Given the description of an element on the screen output the (x, y) to click on. 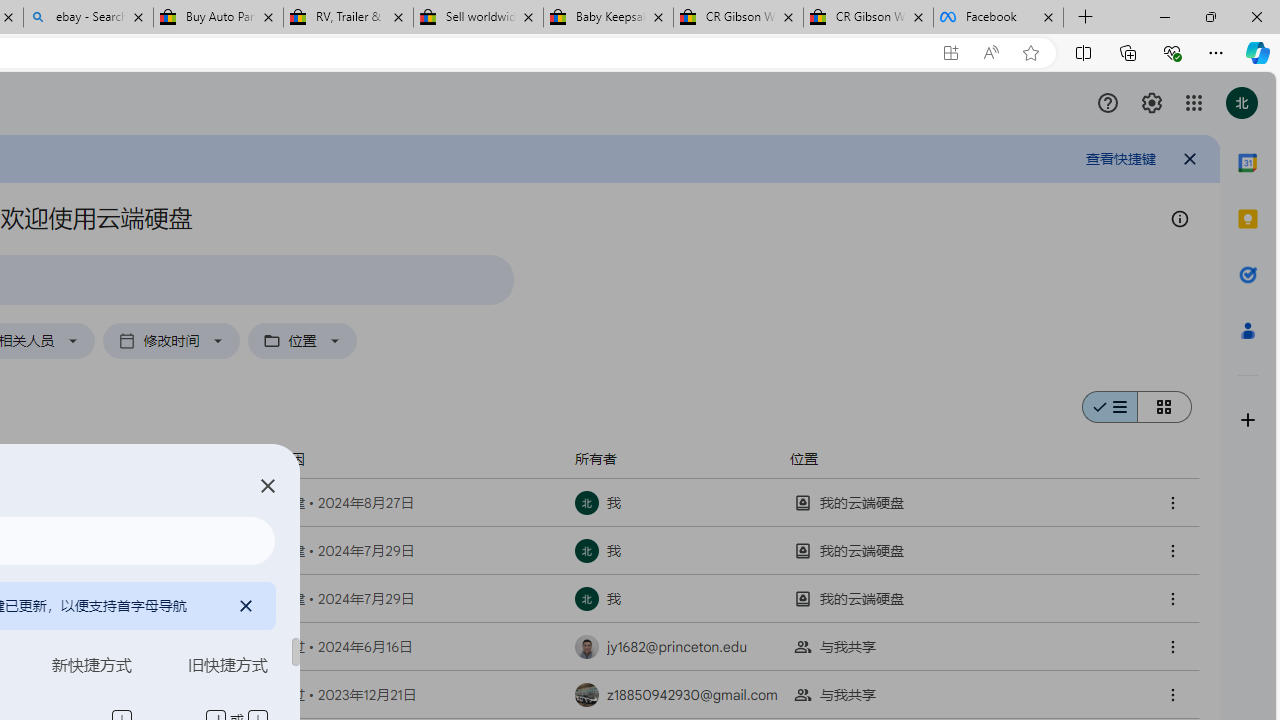
ebay - Search (88, 17)
Buy Auto Parts & Accessories | eBay (217, 17)
